Given the description of an element on the screen output the (x, y) to click on. 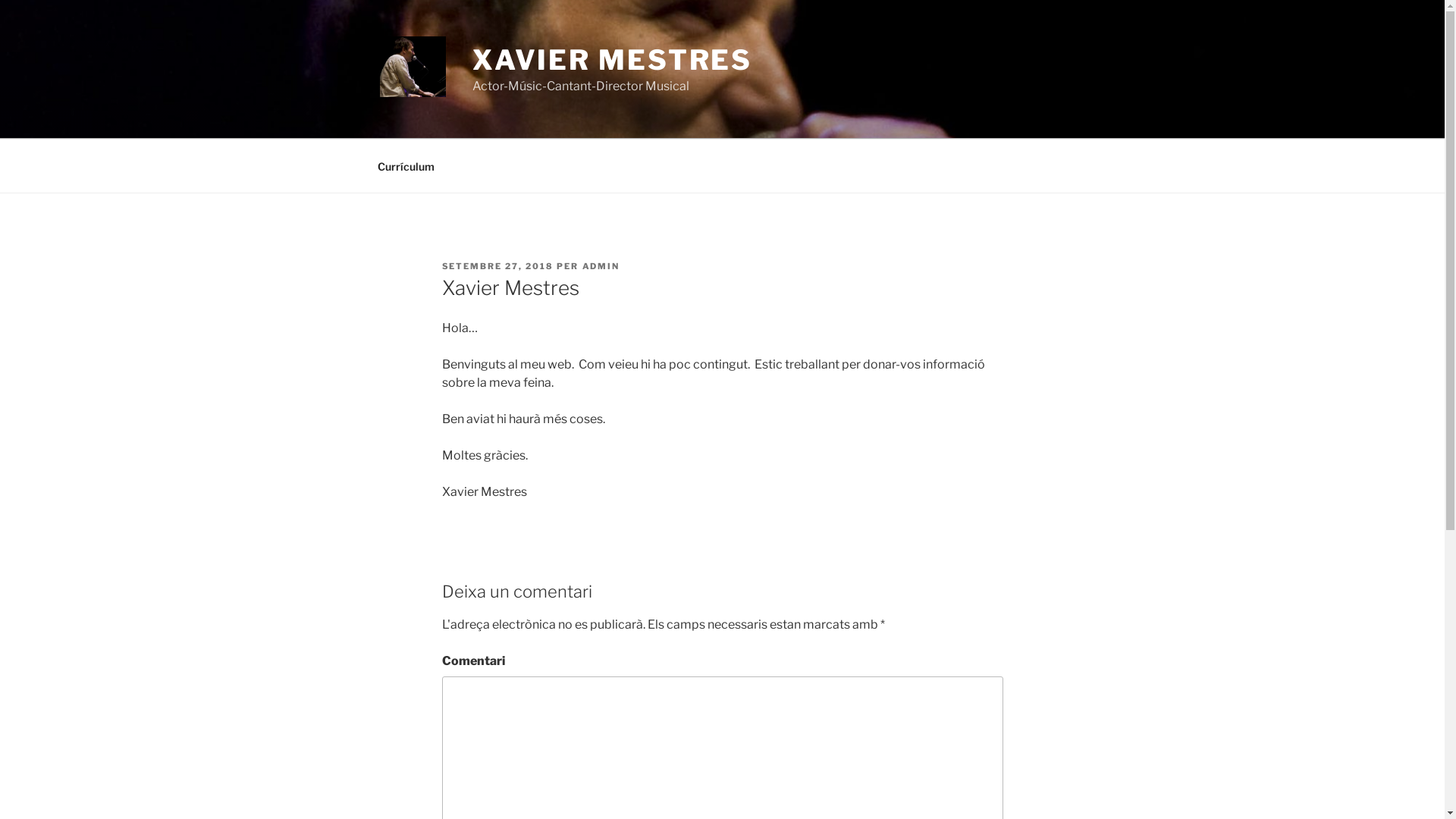
XAVIER MESTRES Element type: text (612, 59)
SETEMBRE 27, 2018 Element type: text (497, 265)
ADMIN Element type: text (601, 265)
